Given the description of an element on the screen output the (x, y) to click on. 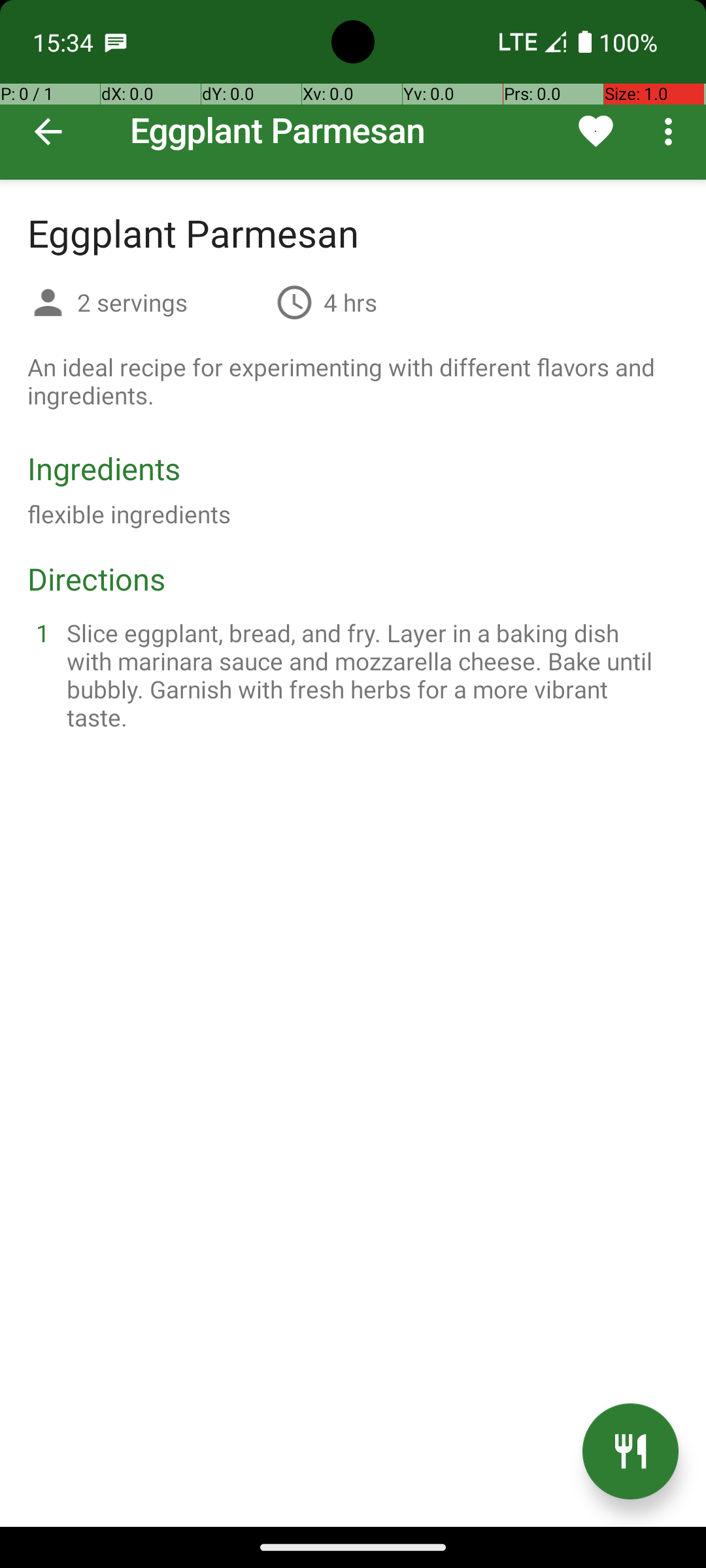
flexible ingredients Element type: android.widget.TextView (128, 513)
Slice eggplant, bread, and fry. Layer in a baking dish with marinara sauce and mozzarella cheese. Bake until bubbly. Garnish with fresh herbs for a more vibrant taste. Element type: android.widget.TextView (368, 674)
